Given the description of an element on the screen output the (x, y) to click on. 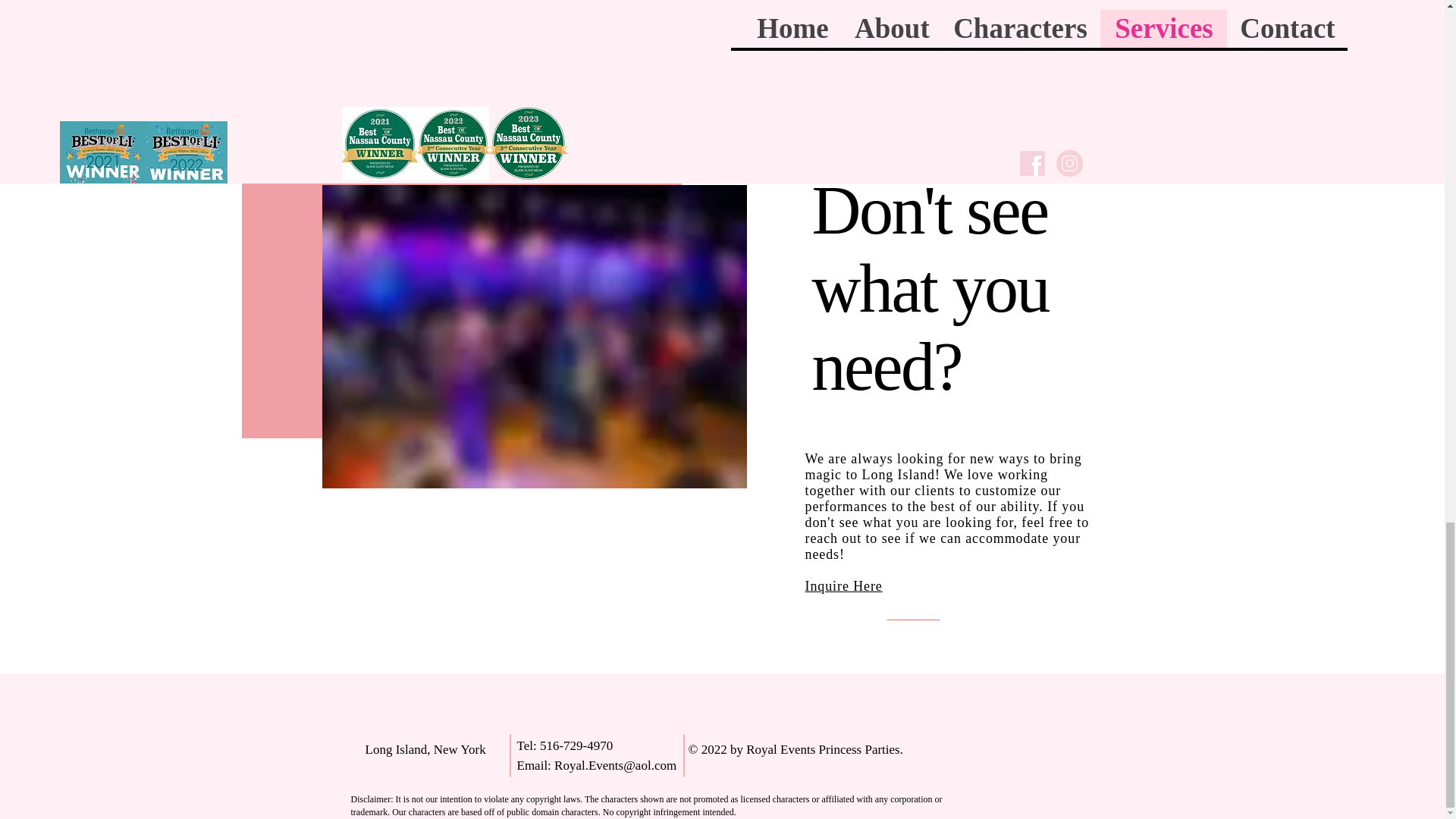
Inquire Here (389, 37)
Inquire Here (843, 585)
